Given the description of an element on the screen output the (x, y) to click on. 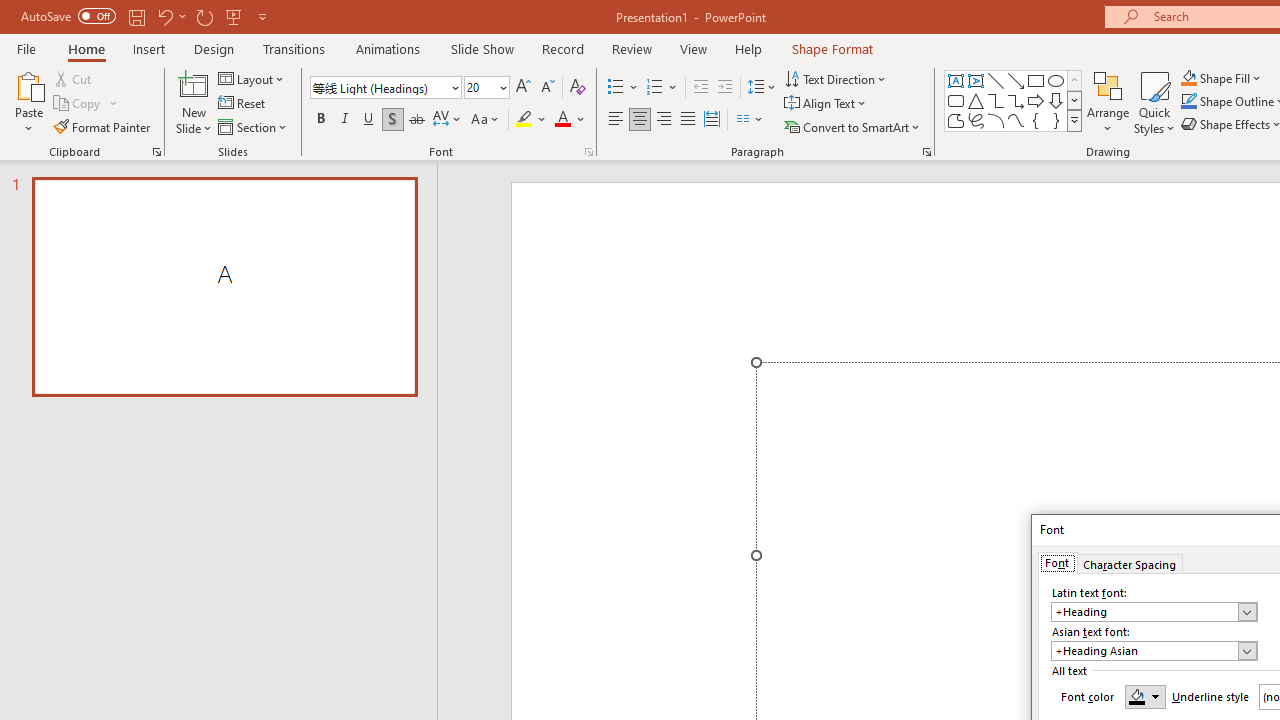
Asian text font (1144, 651)
Latin text font (1154, 611)
